Given the description of an element on the screen output the (x, y) to click on. 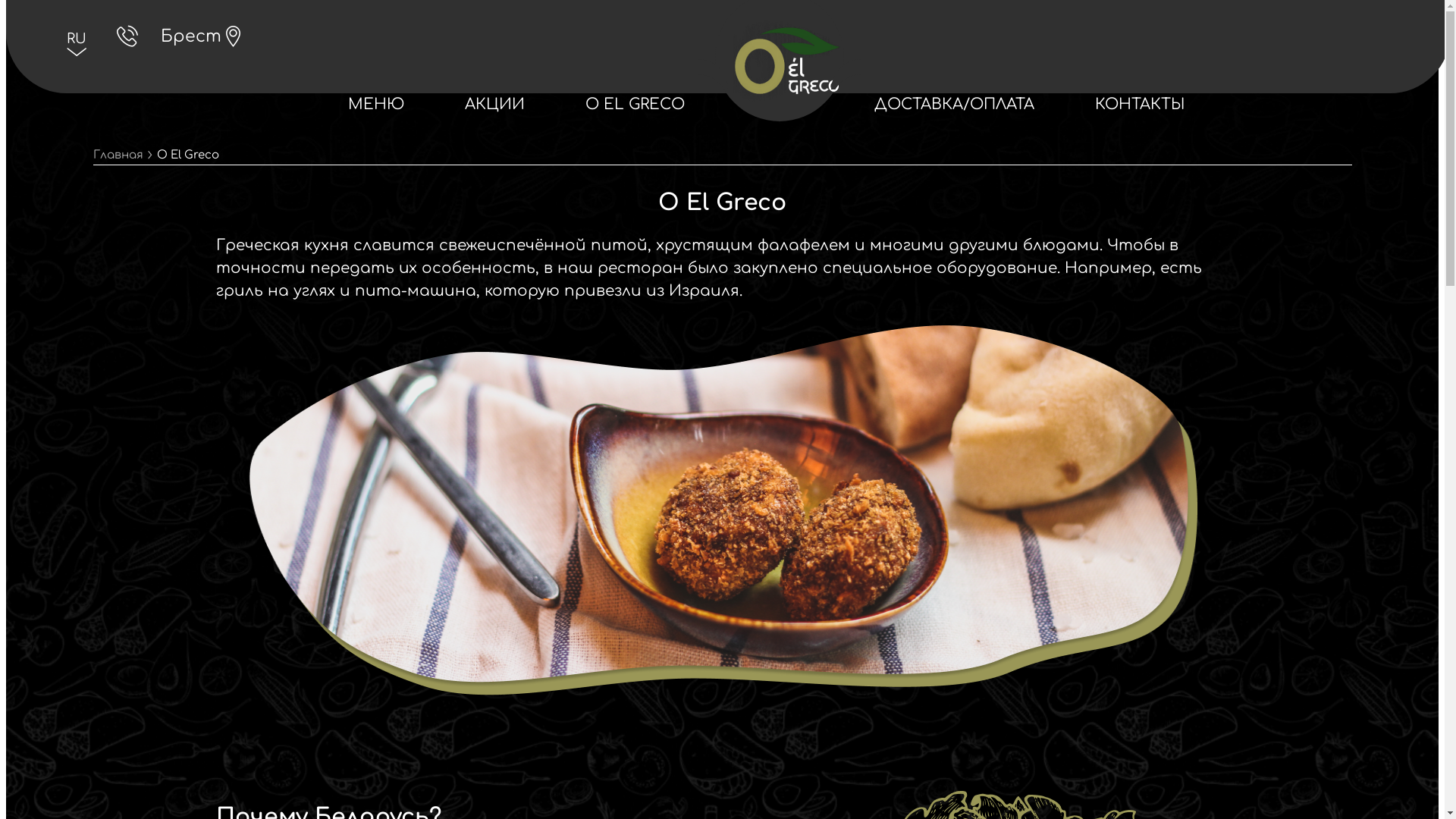
RU Element type: text (76, 38)
